Given the description of an element on the screen output the (x, y) to click on. 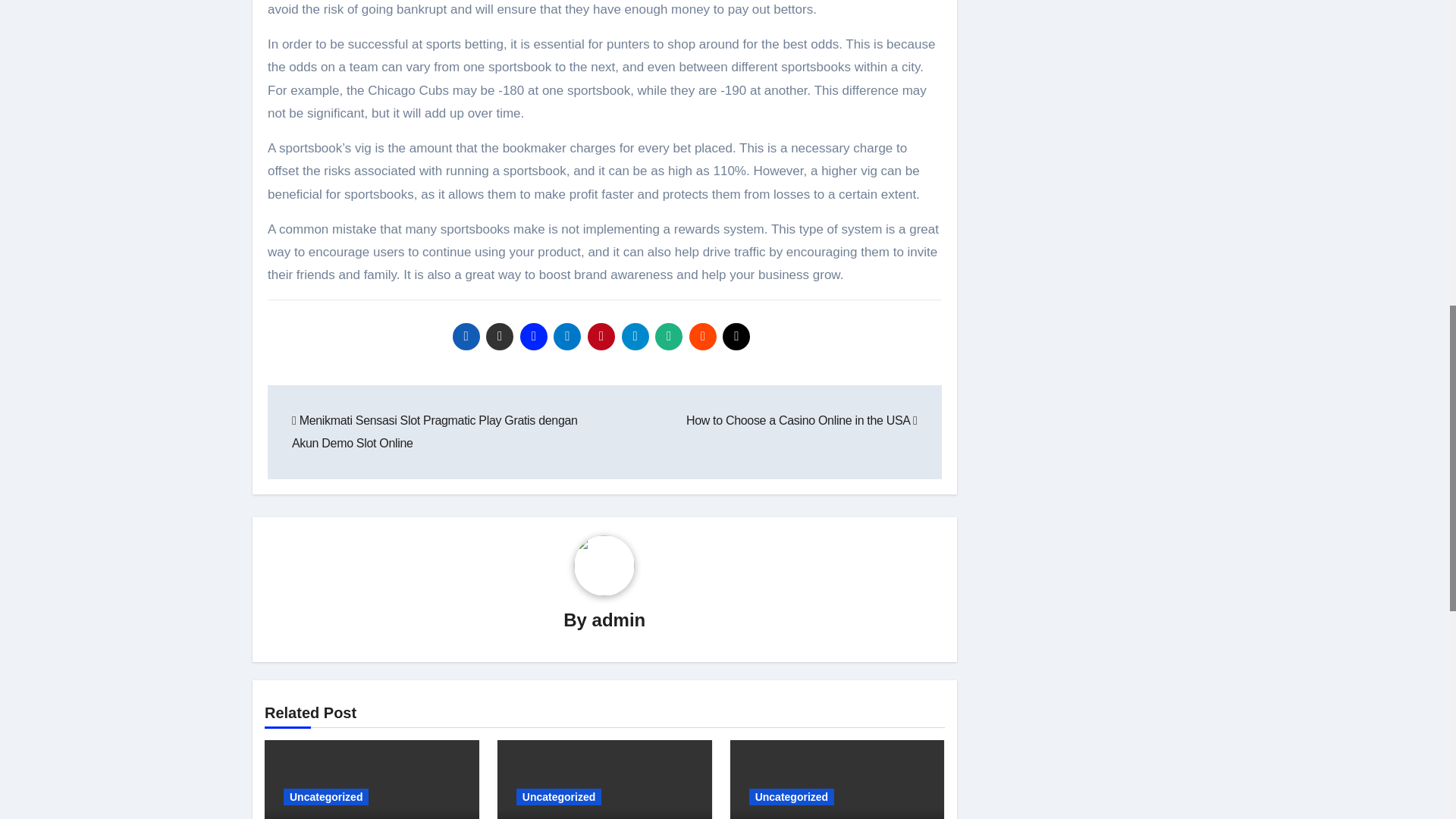
Uncategorized (325, 796)
How to Choose a Casino Online in the USA (801, 420)
Uncategorized (558, 796)
admin (619, 619)
